Given the description of an element on the screen output the (x, y) to click on. 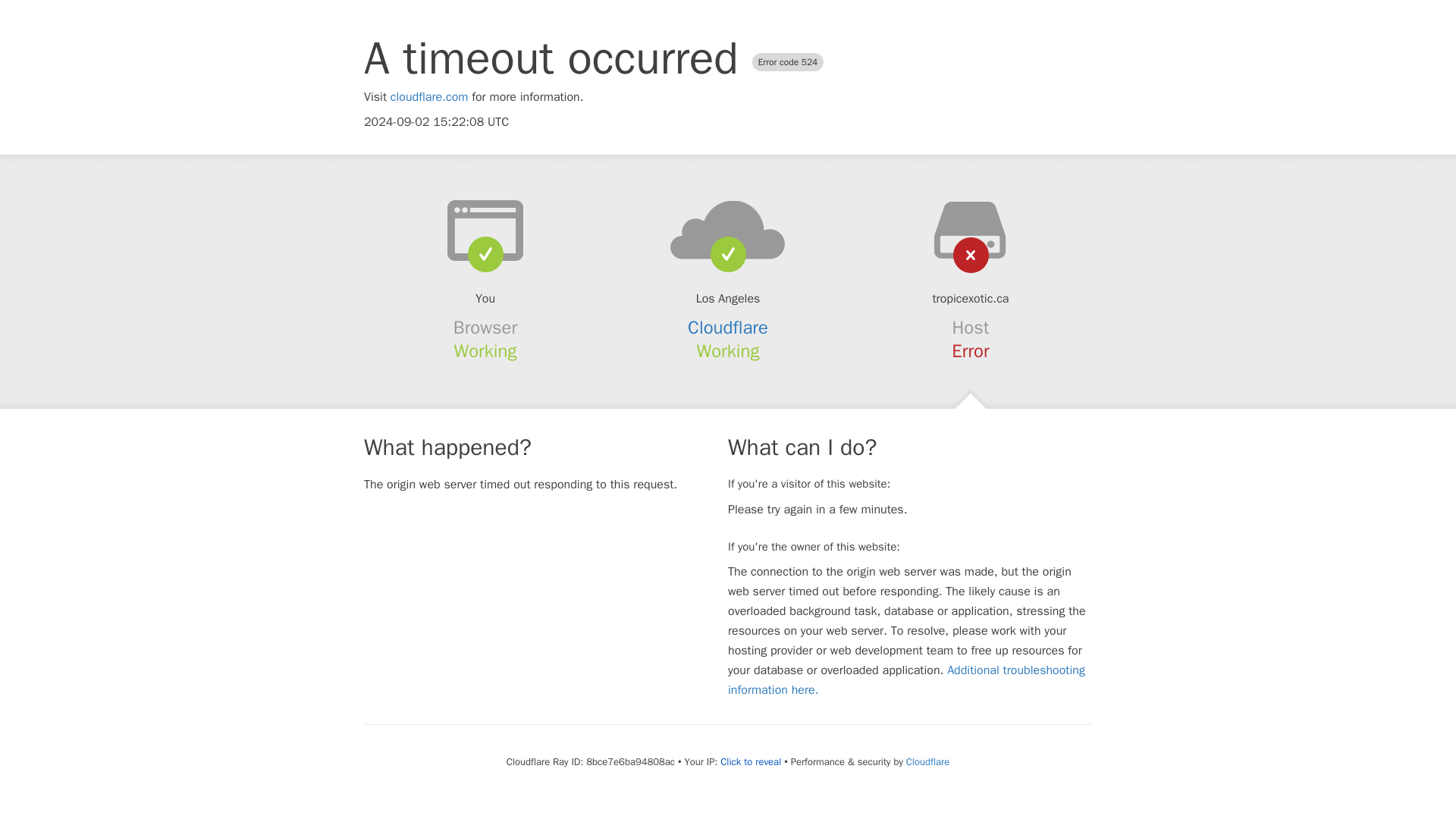
Cloudflare (727, 327)
Additional troubleshooting information here. (906, 679)
cloudflare.com (429, 96)
Cloudflare (927, 761)
Click to reveal (750, 762)
